Given the description of an element on the screen output the (x, y) to click on. 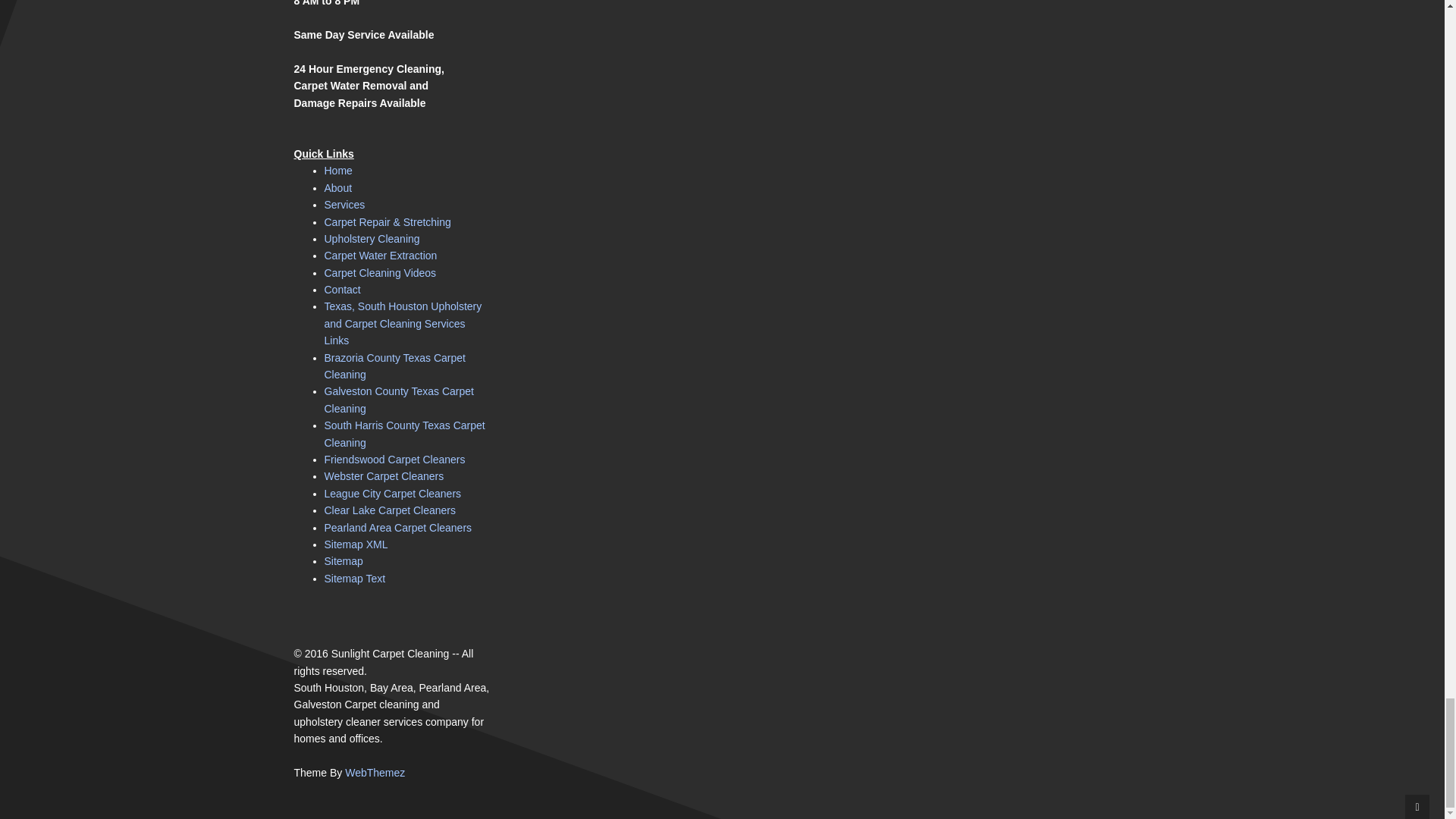
Upholstery Cleaning (372, 238)
Contact (342, 289)
Brazoria County Texas Carpet Cleaning (394, 366)
Services (344, 204)
Carpet Cleaning Videos (380, 272)
Home (338, 170)
About (338, 187)
Carpet Water Extraction (381, 255)
